Given the description of an element on the screen output the (x, y) to click on. 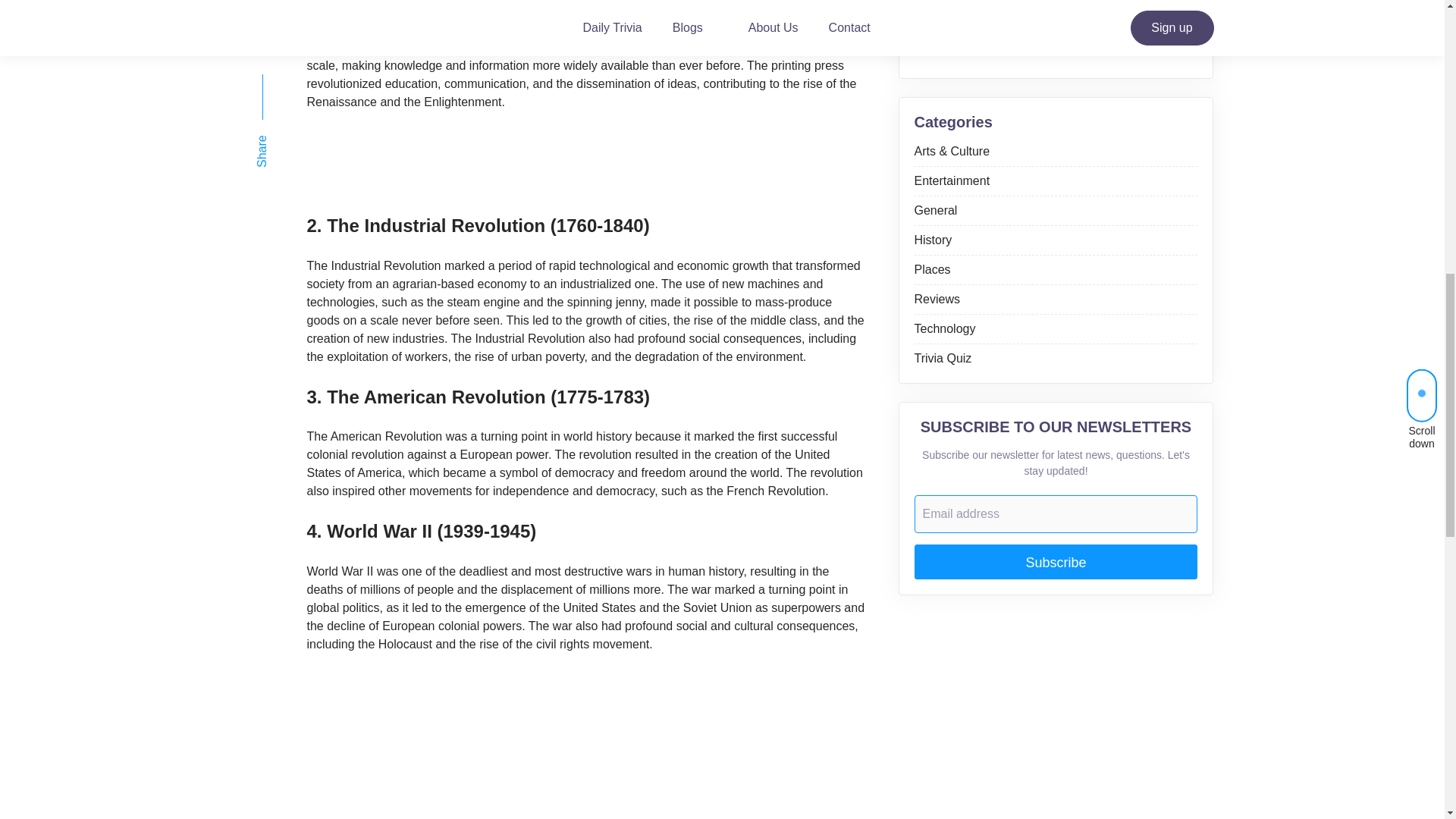
Entertainment (952, 180)
Subscribe (1056, 561)
General (936, 210)
Reviews (936, 298)
Trivia Quiz (943, 358)
History (933, 239)
Subscribe (1056, 561)
Places (932, 269)
Technology (944, 328)
